Given the description of an element on the screen output the (x, y) to click on. 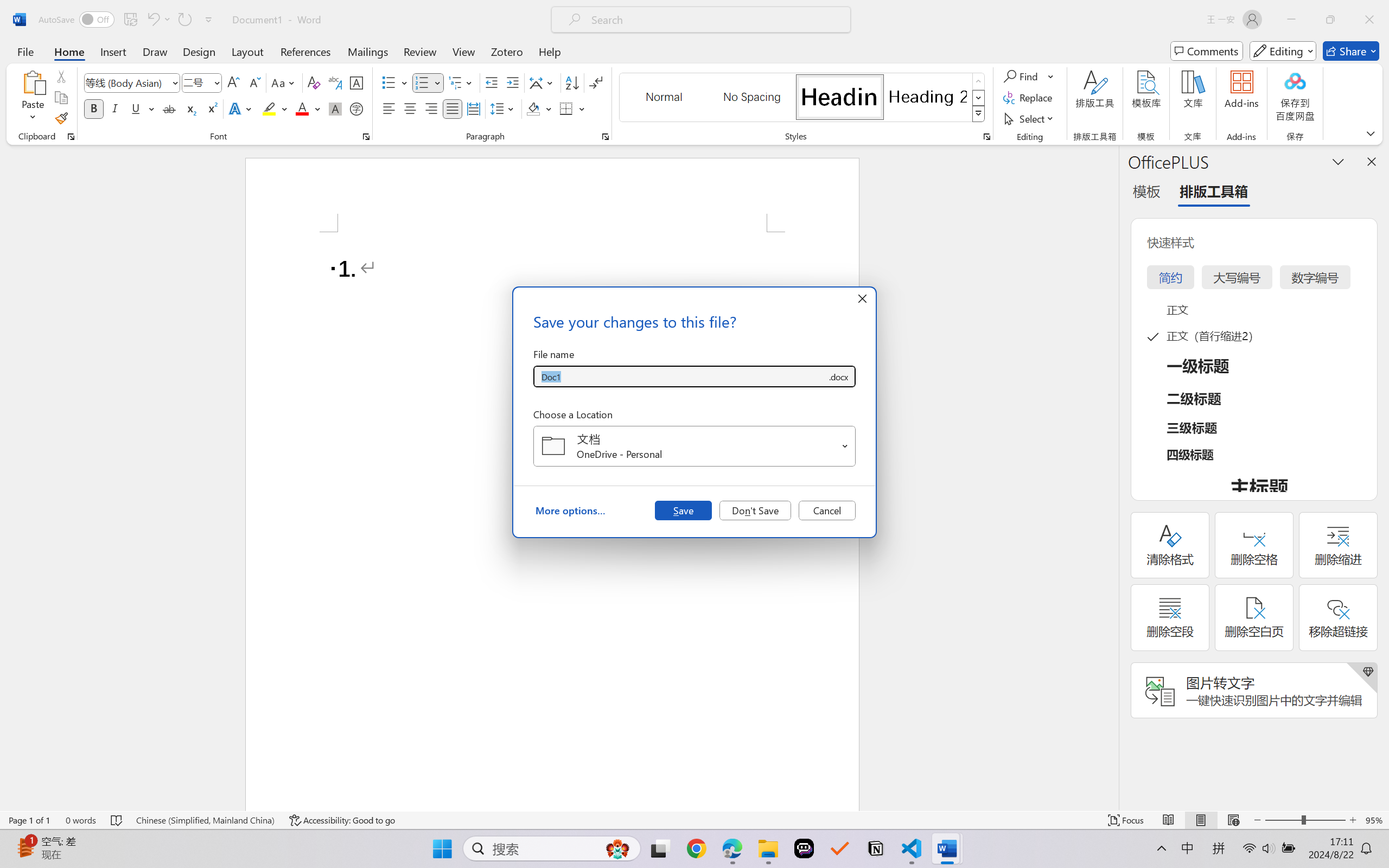
Save as type (837, 376)
Undo Number Default (158, 19)
